Given the description of an element on the screen output the (x, y) to click on. 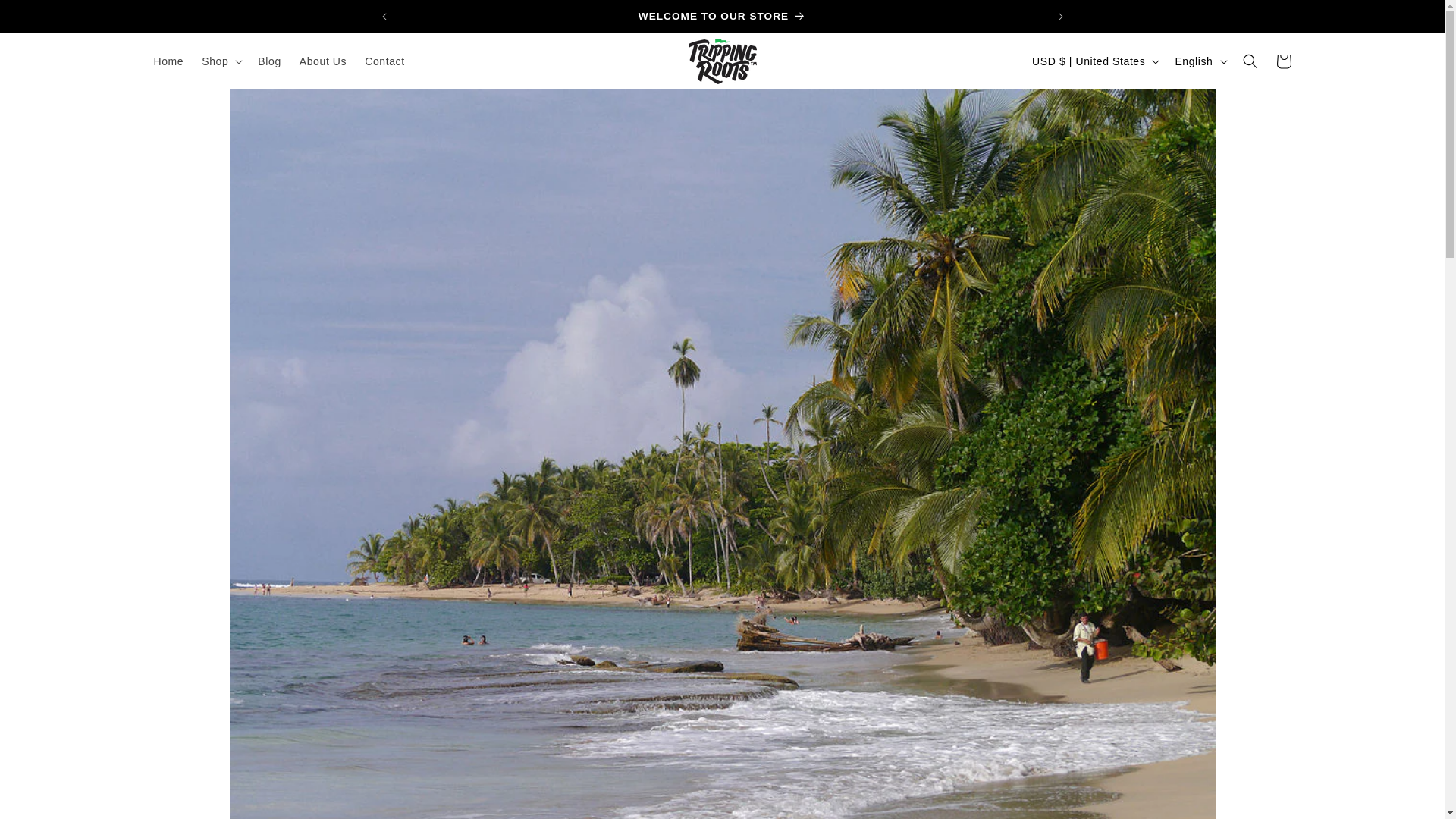
WELCOME TO OUR STORE (721, 16)
Skip to content (45, 17)
